Given the description of an element on the screen output the (x, y) to click on. 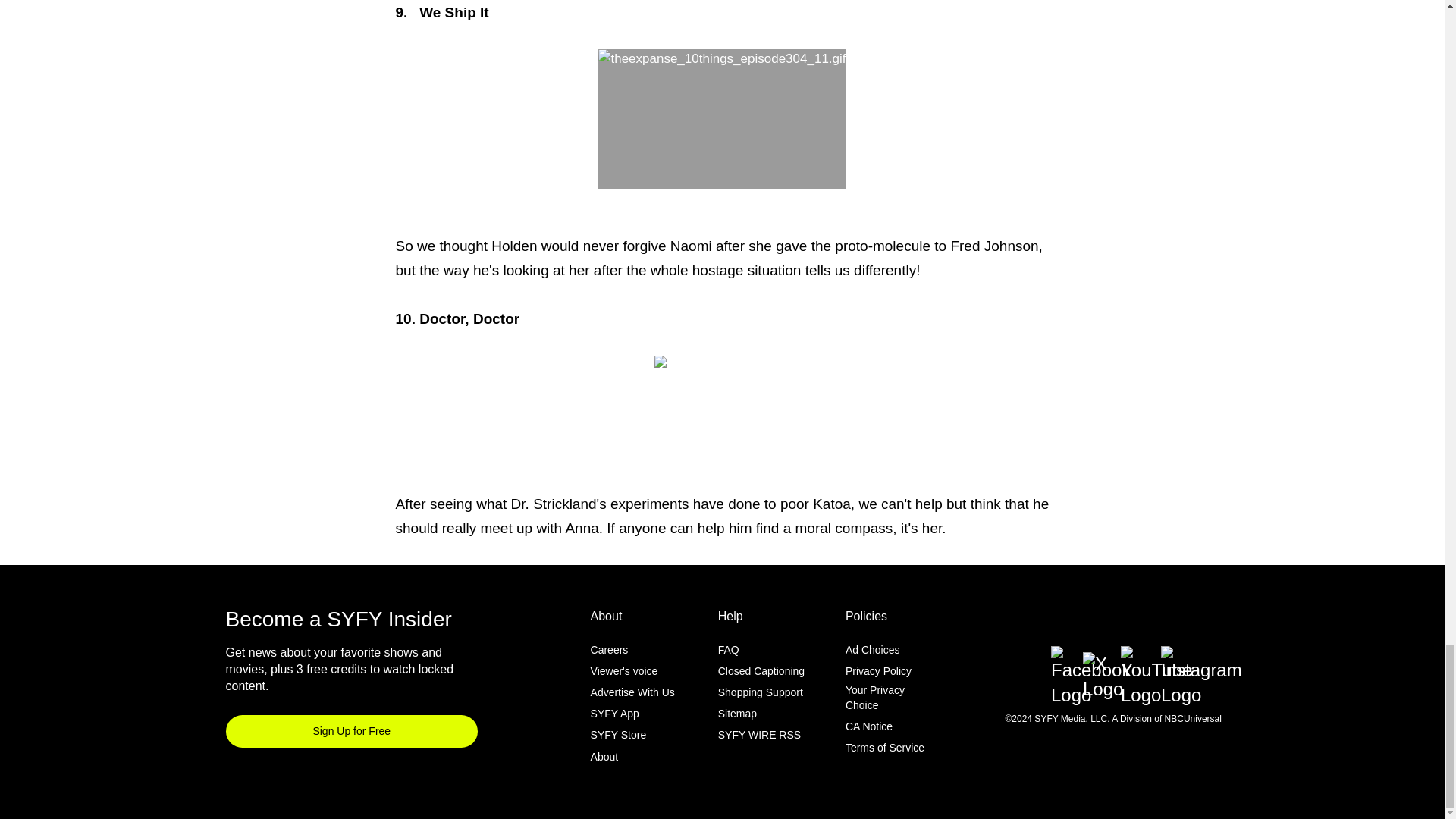
Sign Up for Free (352, 730)
Careers (609, 649)
Viewer's voice (624, 671)
Advertise With Us (633, 692)
Advertise With Us (633, 692)
Missing media item. (721, 423)
